Given the description of an element on the screen output the (x, y) to click on. 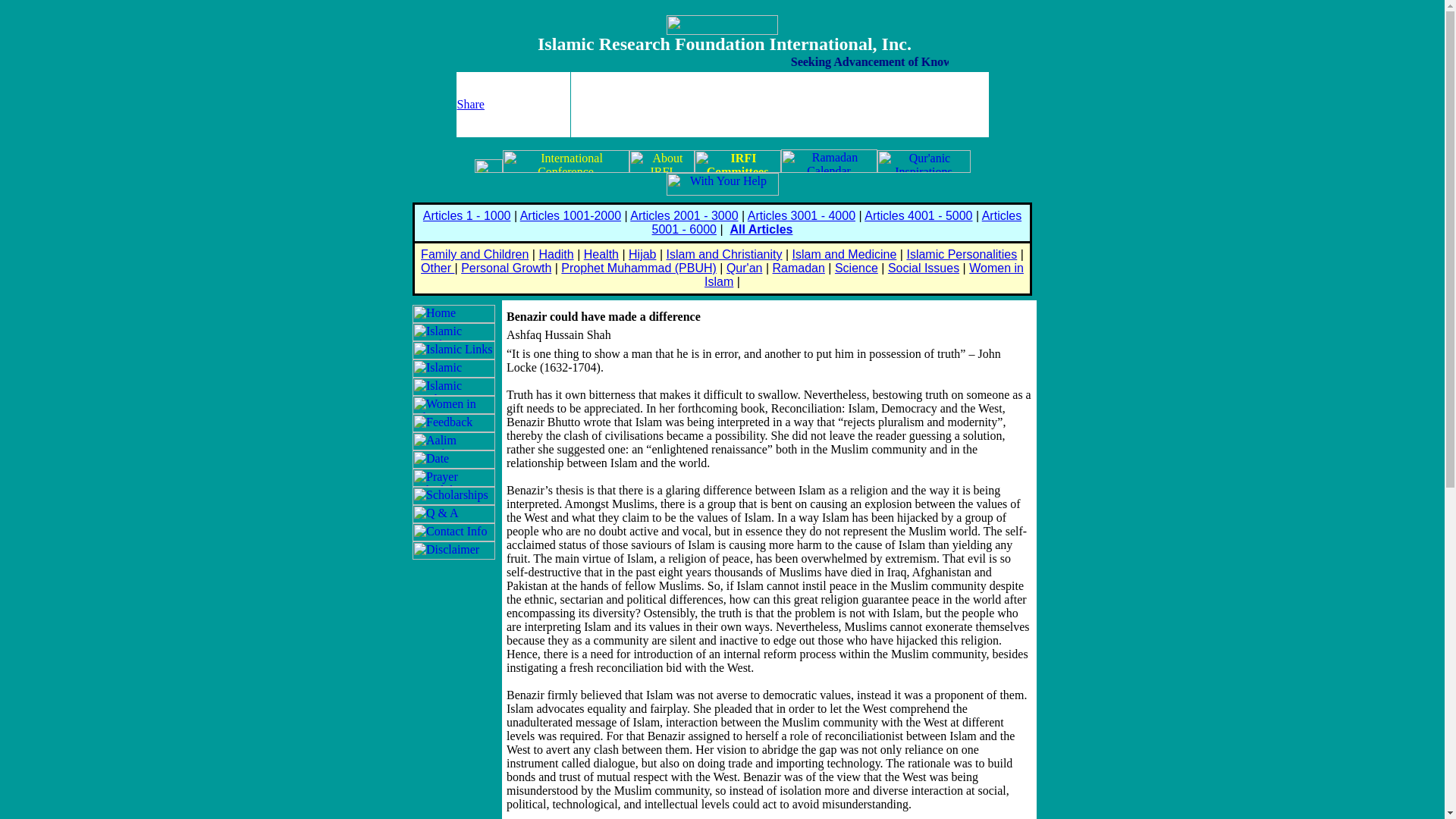
Islam and Medicine (844, 254)
Articles 1001-2000 (570, 215)
Social Issues (923, 267)
Hadith (555, 254)
Hijab (642, 254)
Personal Growth (506, 267)
Qur'an (744, 267)
Ramadan (797, 267)
Articles 4001 - 5000 (918, 215)
Articles 1 - 1000 (467, 215)
Islamic Personalities (960, 254)
Other (437, 267)
Women in Islam (863, 274)
Share (470, 103)
Health (600, 254)
